Given the description of an element on the screen output the (x, y) to click on. 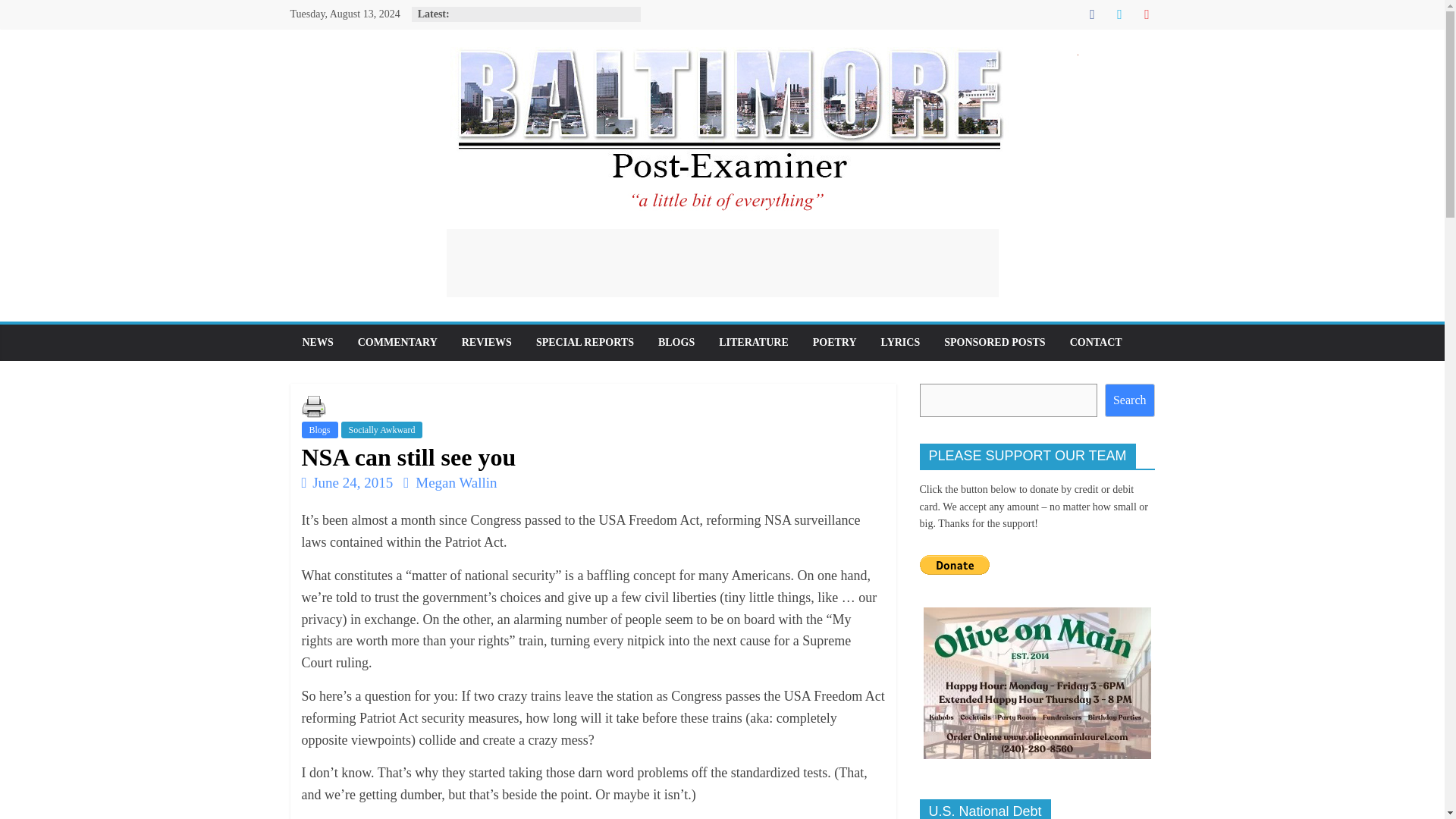
Blogs (319, 429)
June 24, 2015 (347, 482)
SPECIAL REPORTS (585, 342)
Megan Wallin (455, 482)
LITERATURE (753, 342)
NEWS (317, 342)
12:01 PM (347, 482)
LYRICS (901, 342)
BLOGS (676, 342)
POETRY (834, 342)
